Given the description of an element on the screen output the (x, y) to click on. 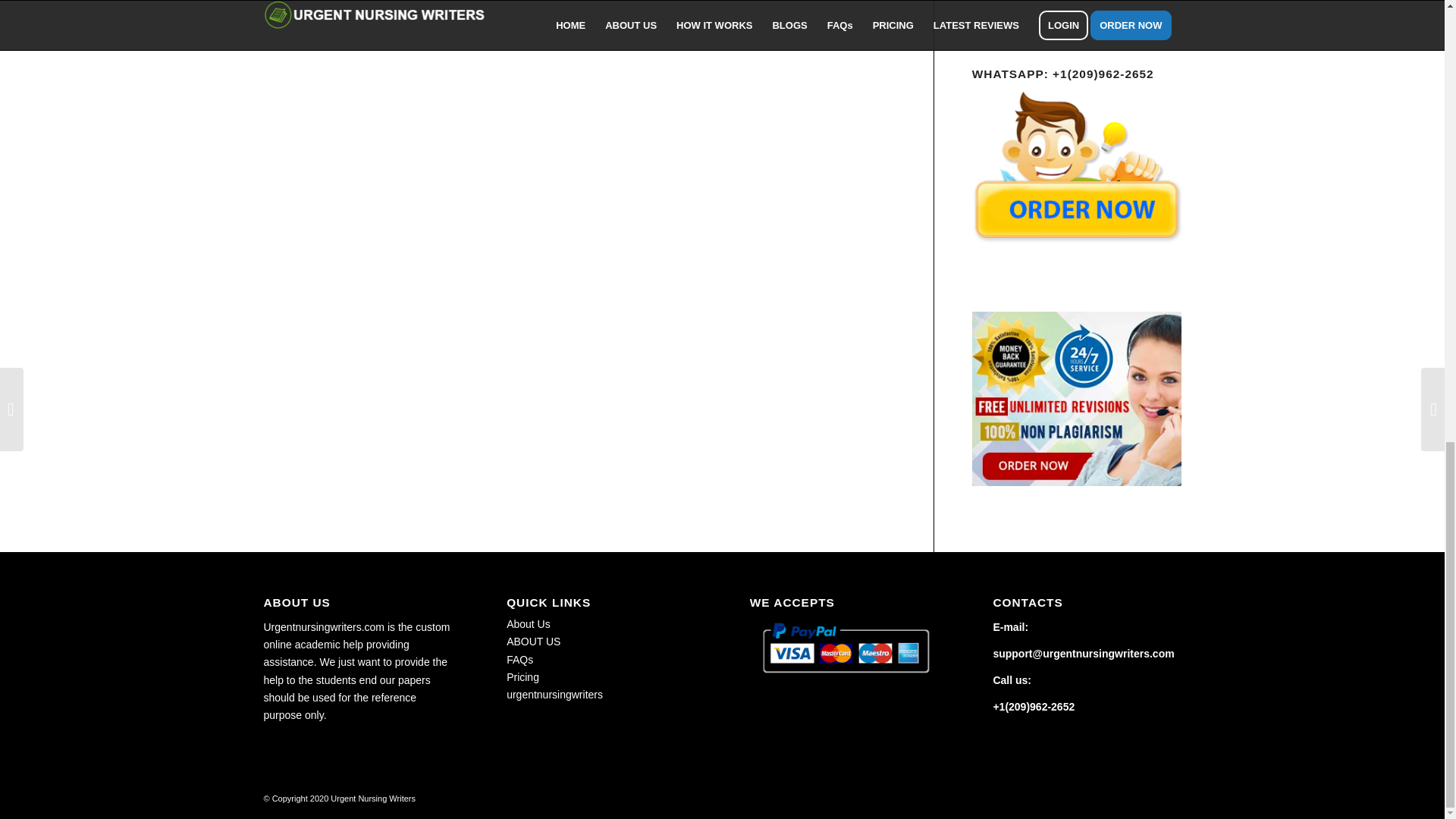
urgentnursingwriters (554, 694)
FAQs (519, 659)
ABOUT US (533, 641)
Pricing (522, 676)
About Us (528, 623)
